Given the description of an element on the screen output the (x, y) to click on. 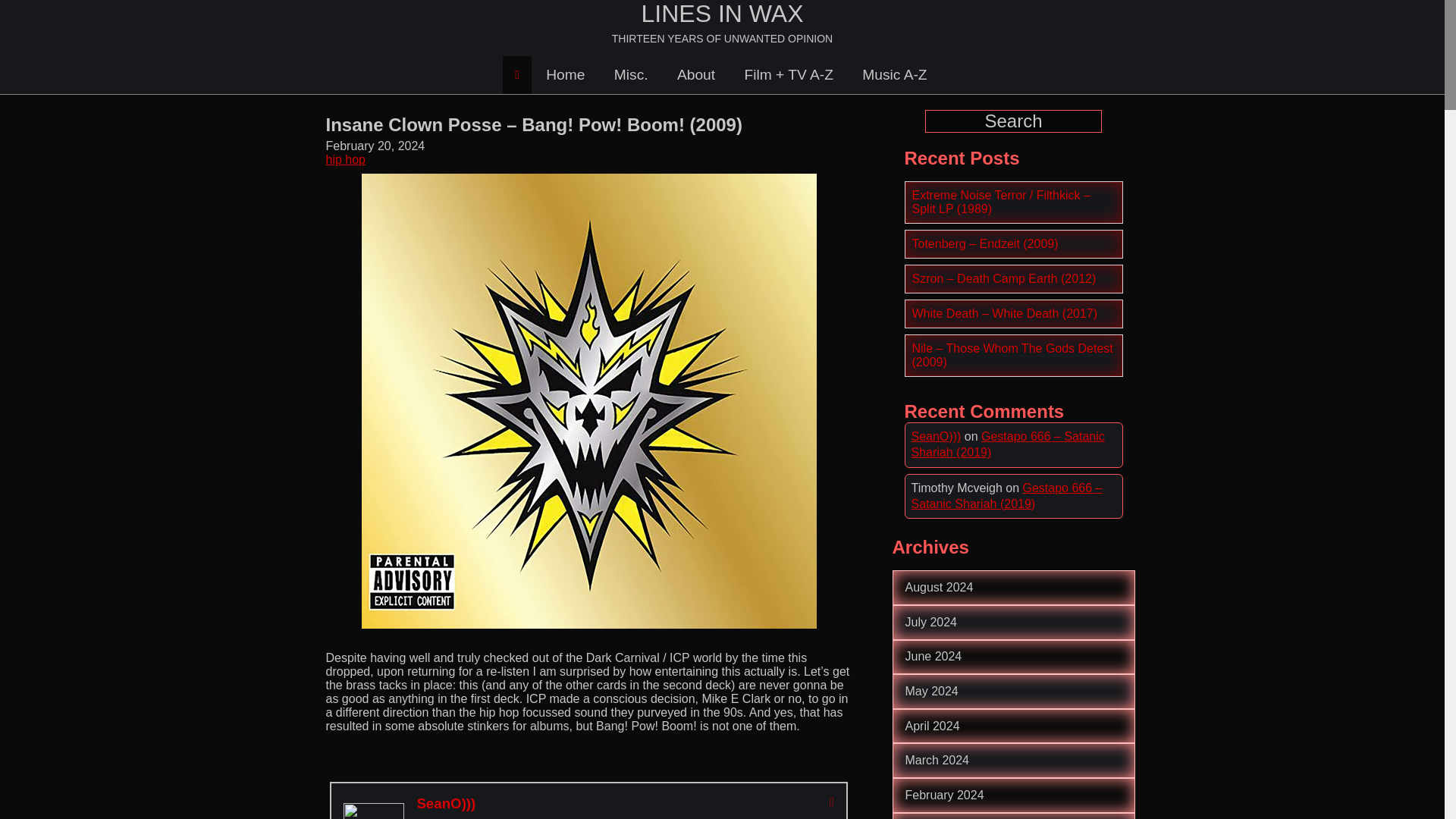
Music A-Z (893, 74)
March 2024 (937, 759)
February 2024 (944, 794)
LINES IN WAX (721, 13)
August 2024 (939, 586)
Misc. (630, 74)
April 2024 (932, 725)
hip hop (346, 159)
July 2024 (931, 621)
About (695, 74)
